Given the description of an element on the screen output the (x, y) to click on. 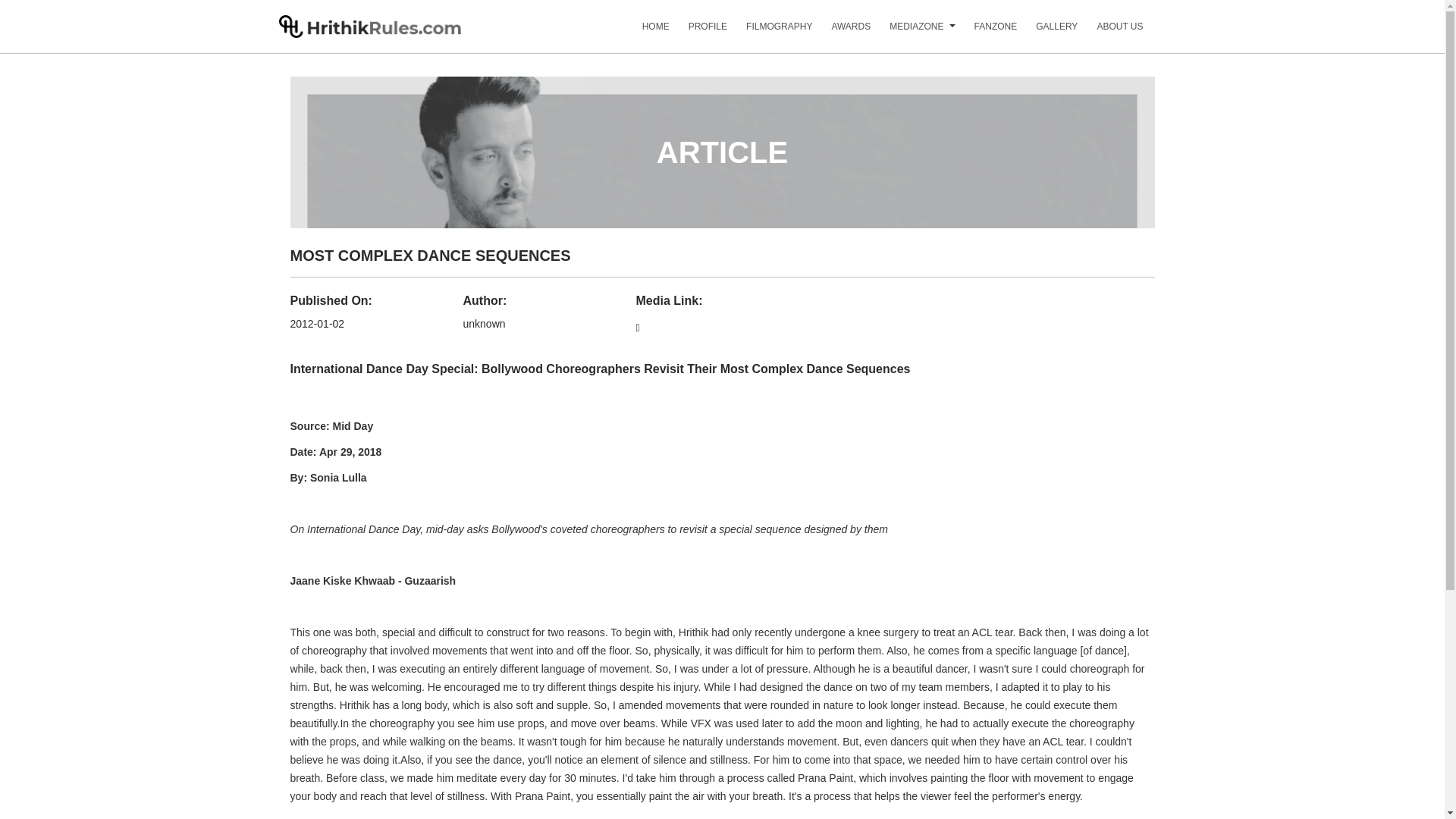
FANZONE (986, 31)
AWARDS (841, 31)
ABOUT US (1109, 31)
HOME (646, 31)
GALLERY (1046, 31)
FILMOGRAPHY (769, 31)
PROFILE (697, 31)
MEDIAZONE (906, 31)
